Given the description of an element on the screen output the (x, y) to click on. 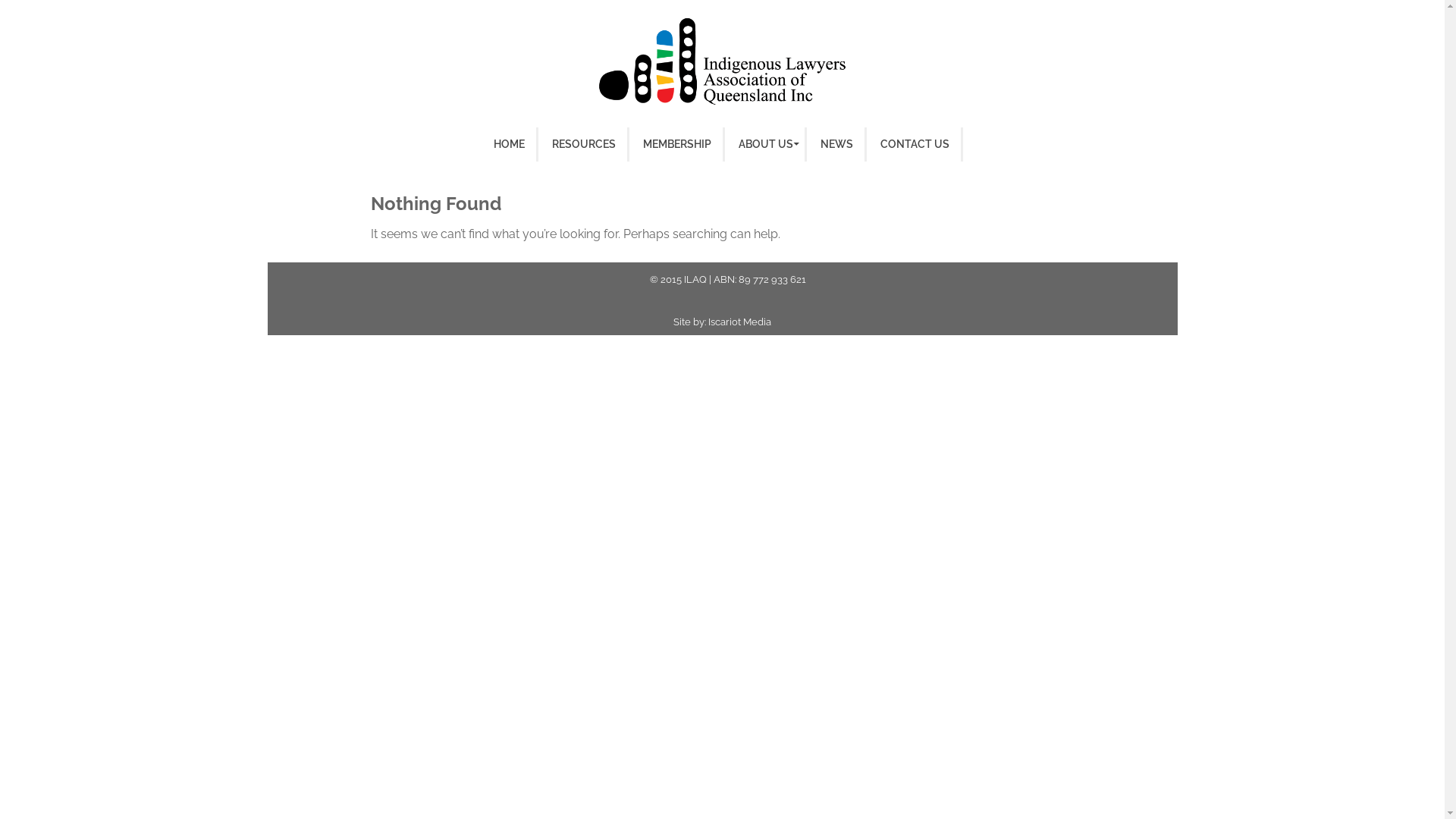
NEWS Element type: text (835, 144)
Iscariot Media Element type: text (739, 321)
SKIP TO CONTENT Element type: text (325, 135)
RESOURCES Element type: text (582, 144)
CONTACT US Element type: text (914, 144)
ABOUT US Element type: text (764, 144)
ILAQ Element type: text (696, 279)
HOME Element type: text (509, 144)
MEMBERSHIP Element type: text (675, 144)
